Given the description of an element on the screen output the (x, y) to click on. 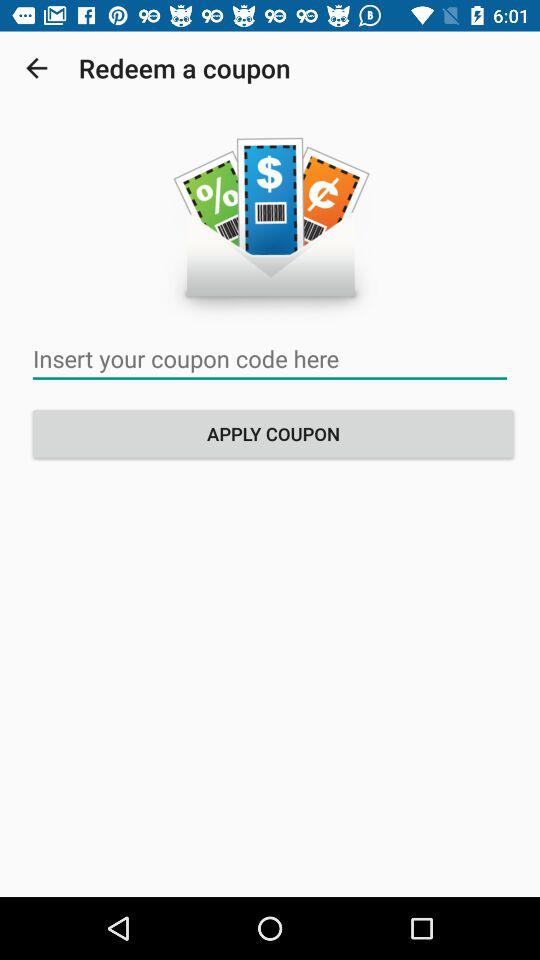
tap the apply coupon icon (273, 433)
